Given the description of an element on the screen output the (x, y) to click on. 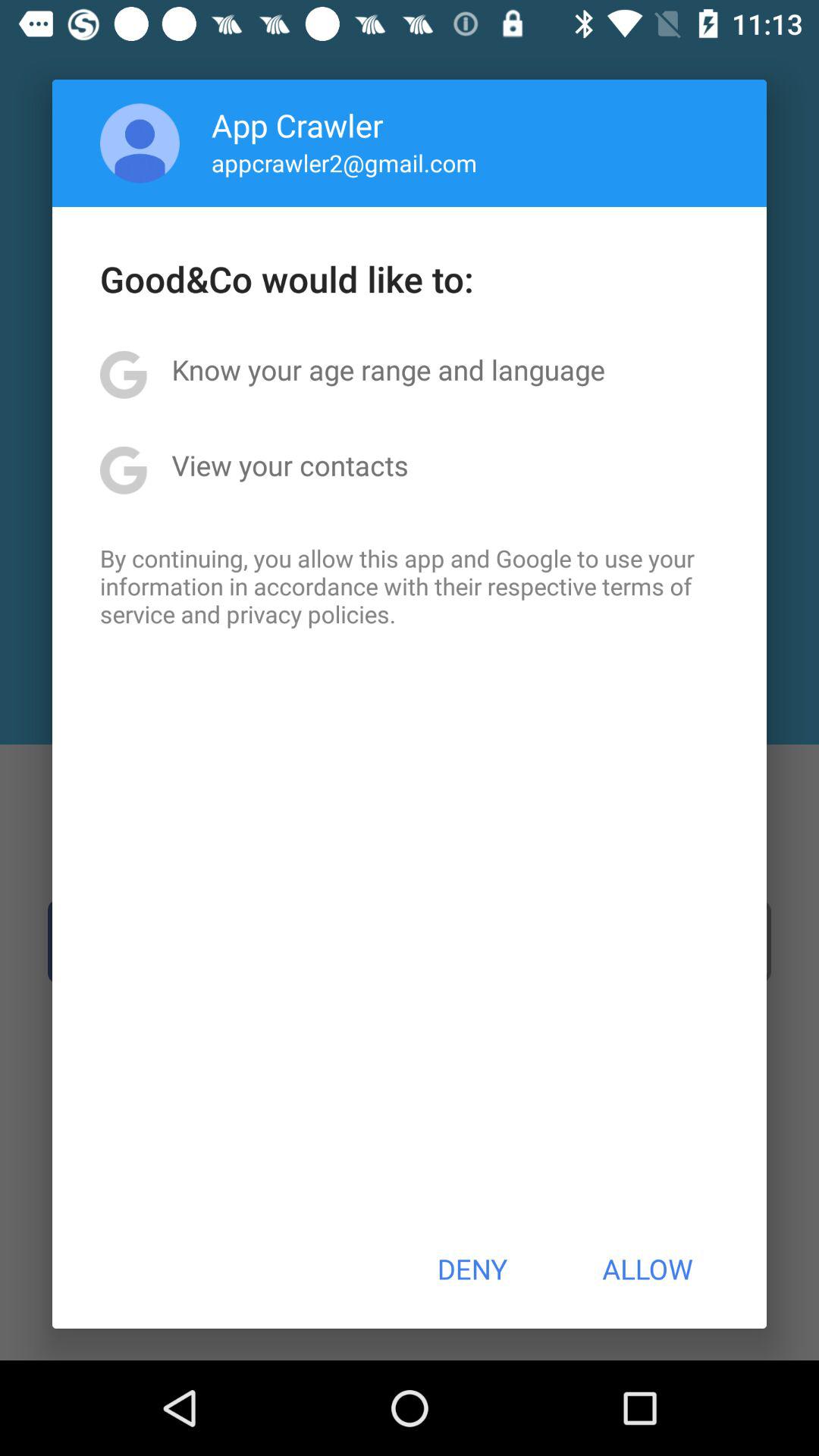
open the item above the good co would icon (344, 162)
